Given the description of an element on the screen output the (x, y) to click on. 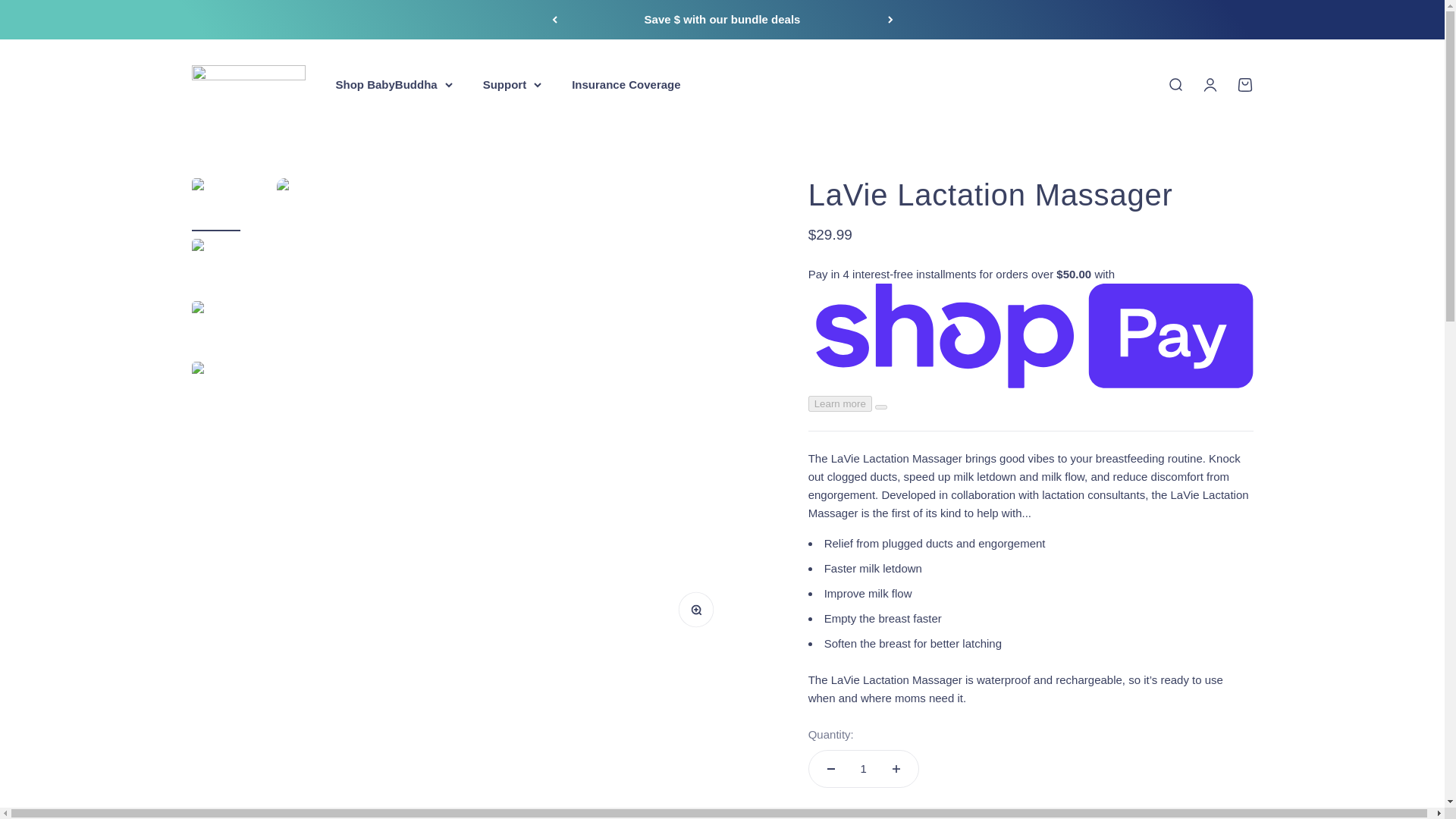
Open search (1174, 84)
Open cart (1244, 84)
Open account page (1209, 84)
1 (864, 769)
Insurance Coverage (625, 83)
BabyBuddha Products (247, 84)
